Given the description of an element on the screen output the (x, y) to click on. 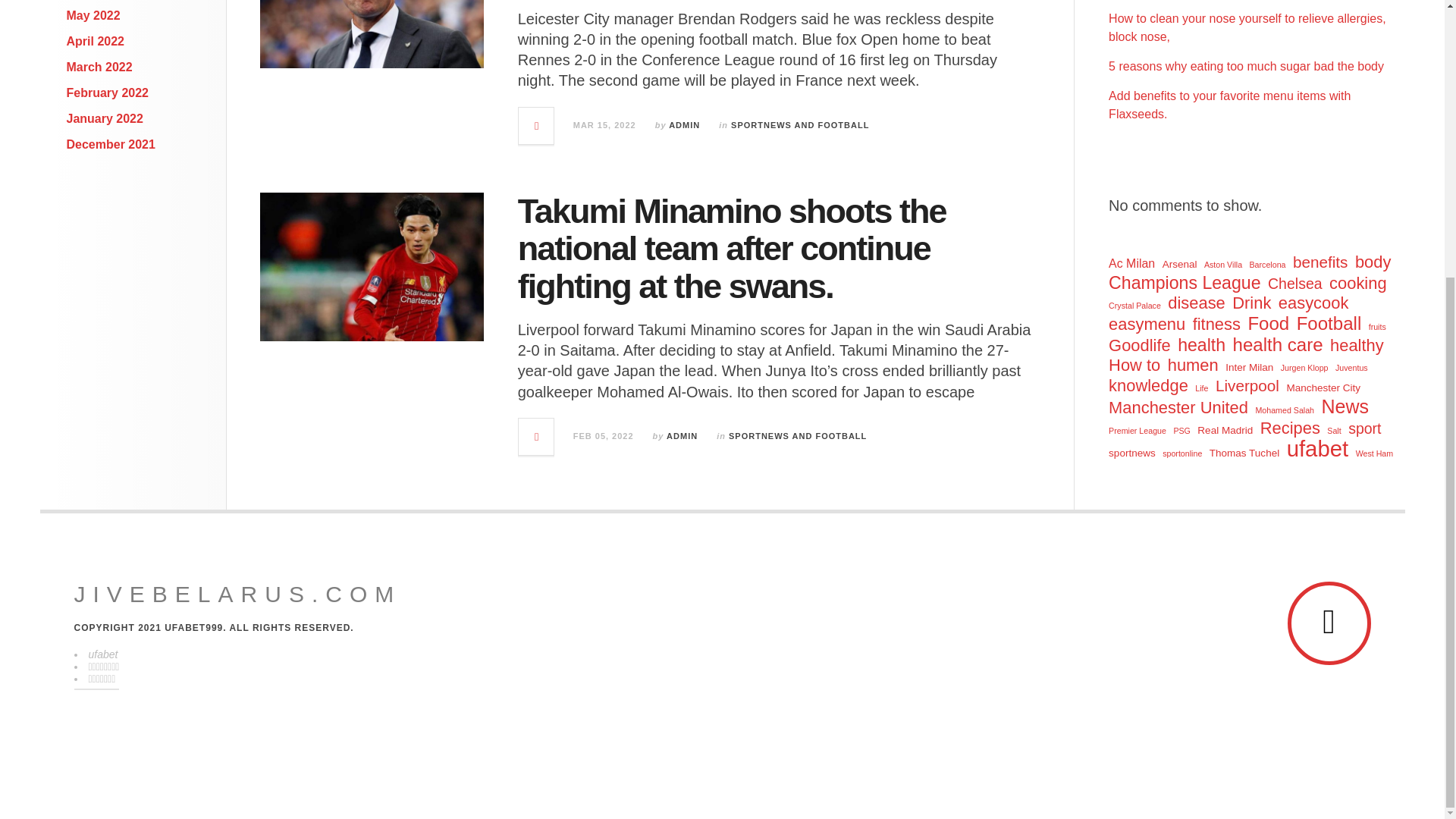
SPORTNEWS AND FOOTBALL (799, 124)
Aston Villa (1222, 264)
5 reasons why eating too much sugar bad the body (1246, 65)
January 2022 (104, 118)
December 2021 (110, 144)
Add benefits to your favorite menu items with Flaxseeds. (1229, 104)
Read More... (536, 436)
SPORTNEWS AND FOOTBALL (797, 435)
View all posts in Sportnews and football (797, 435)
Barcelona (1267, 264)
February 2022 (107, 92)
Read More... (536, 125)
May 2022 (93, 15)
View all posts in Sportnews and football (799, 124)
